Given the description of an element on the screen output the (x, y) to click on. 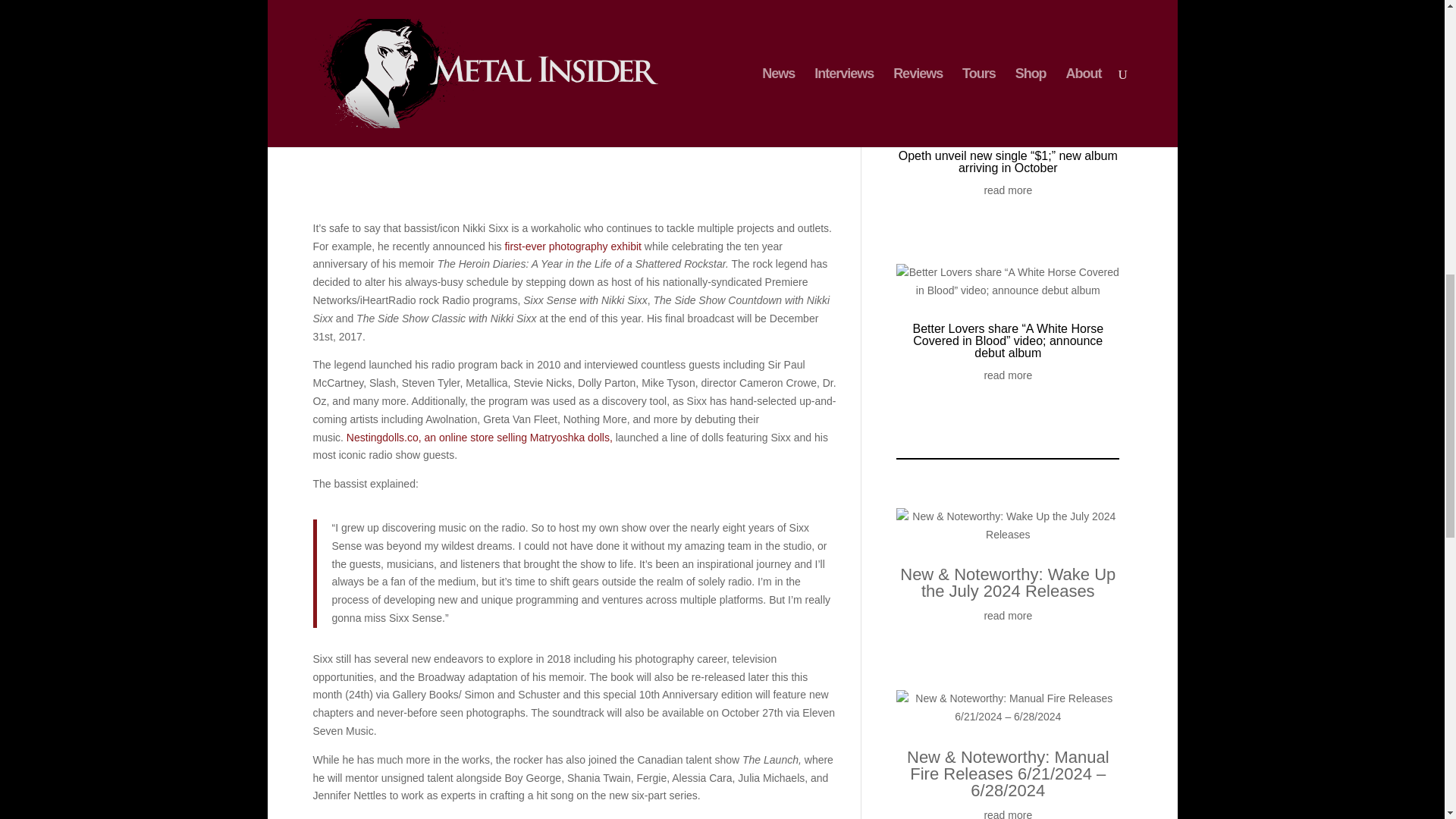
read more (1007, 616)
read more (1007, 375)
Nestingdolls.co, an online store selling Matryoshka dolls, (479, 437)
read more (1007, 812)
first-ever photography exhibit (572, 246)
read more (1007, 190)
